Given the description of an element on the screen output the (x, y) to click on. 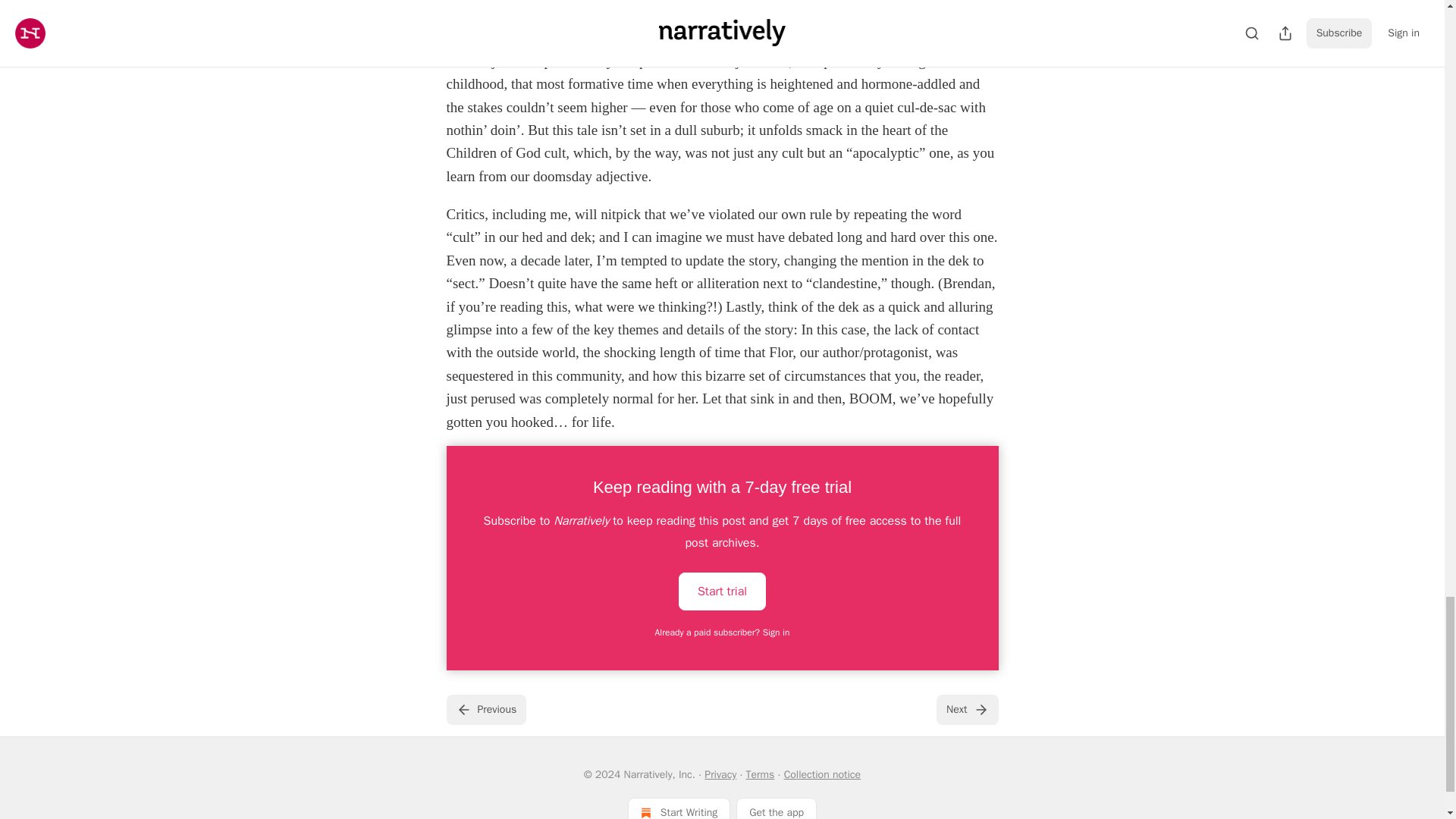
Already a paid subscriber? Sign in (722, 632)
Collection notice (822, 774)
Start Writing (678, 808)
Previous (485, 709)
Next (966, 709)
Get the app (776, 808)
Start trial (721, 590)
Start trial (721, 591)
Terms (759, 774)
Privacy (720, 774)
